Given the description of an element on the screen output the (x, y) to click on. 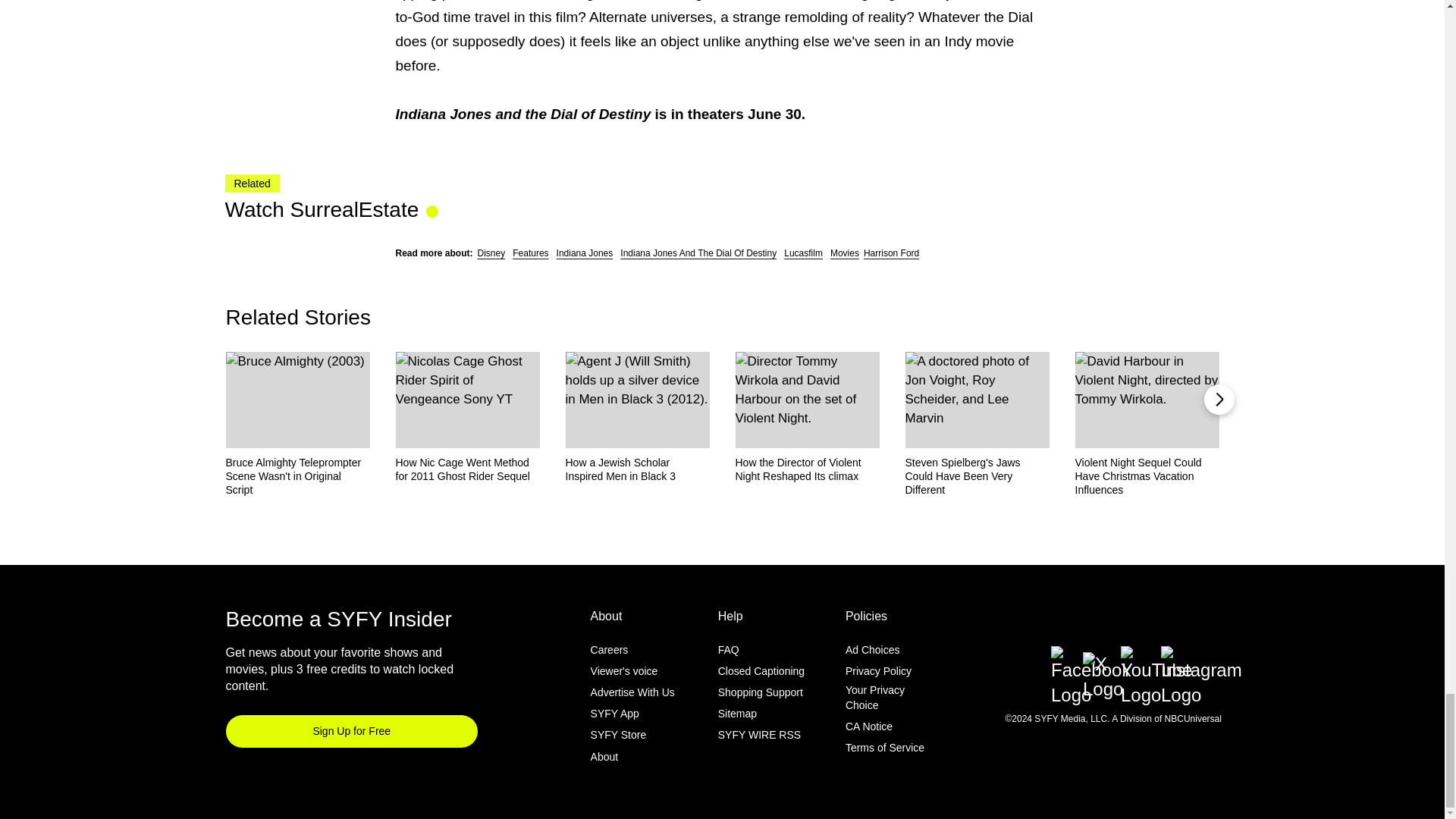
Indiana Jones (584, 253)
Advertise With Us (633, 692)
Indiana Jones And The Dial Of Destiny (698, 253)
Harrison Ford (890, 253)
Lucasfilm (803, 253)
Movies (844, 253)
Disney (491, 253)
Features (530, 253)
